Given the description of an element on the screen output the (x, y) to click on. 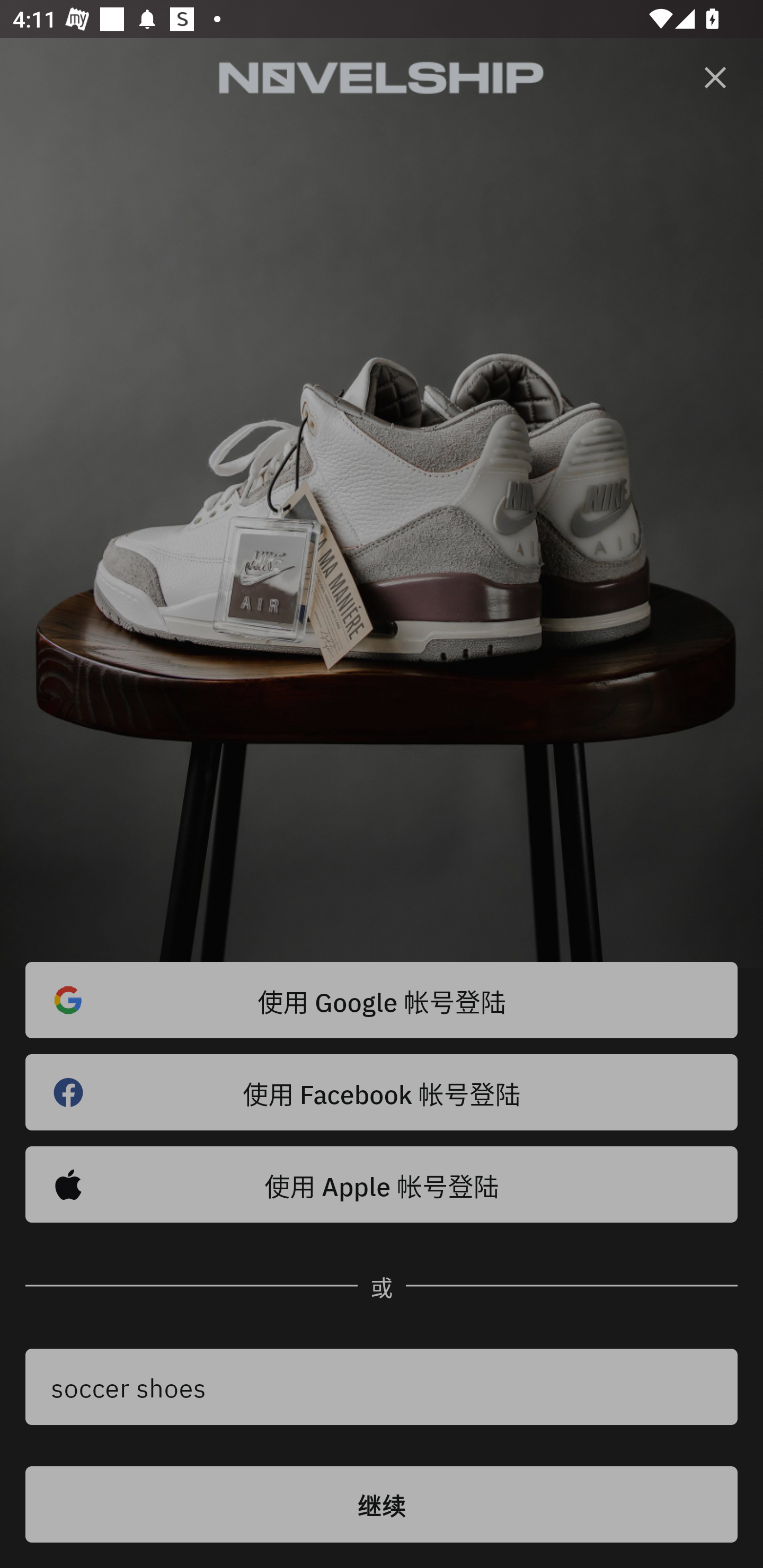
使用 Google 帐号登陆 (381, 1000)
使用 Facebook 帐号登陆 󰈌 (381, 1091)
 使用 Apple 帐号登陆 (381, 1184)
soccer shoes (381, 1386)
继续 (381, 1504)
